Given the description of an element on the screen output the (x, y) to click on. 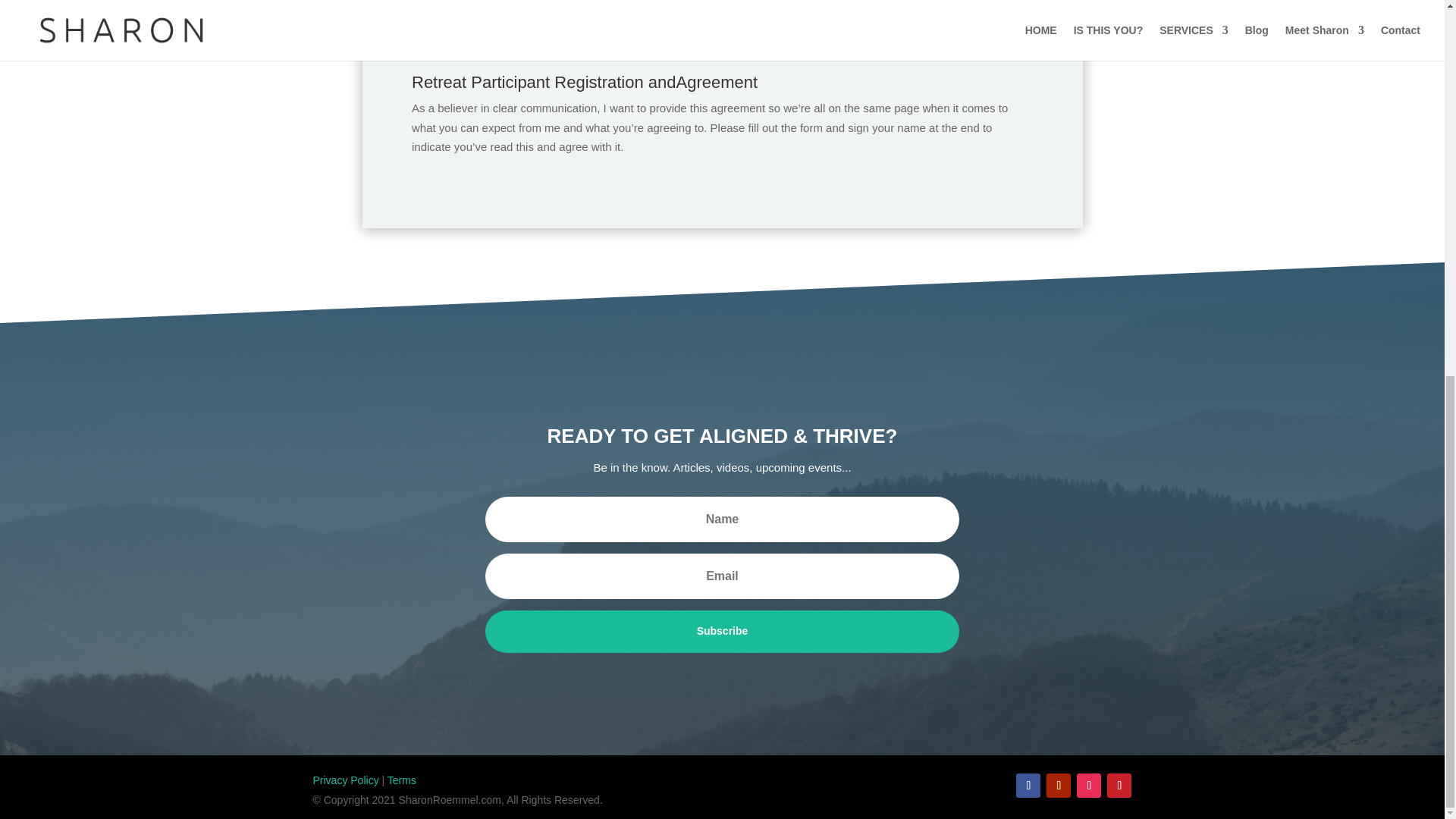
Follow on Youtube (1058, 785)
Privacy Policy (345, 779)
Terms (401, 779)
Follow on Facebook (1028, 785)
Subscribe (721, 631)
Follow on Instagram (1088, 785)
Follow on Pinterest (1118, 785)
